Given the description of an element on the screen output the (x, y) to click on. 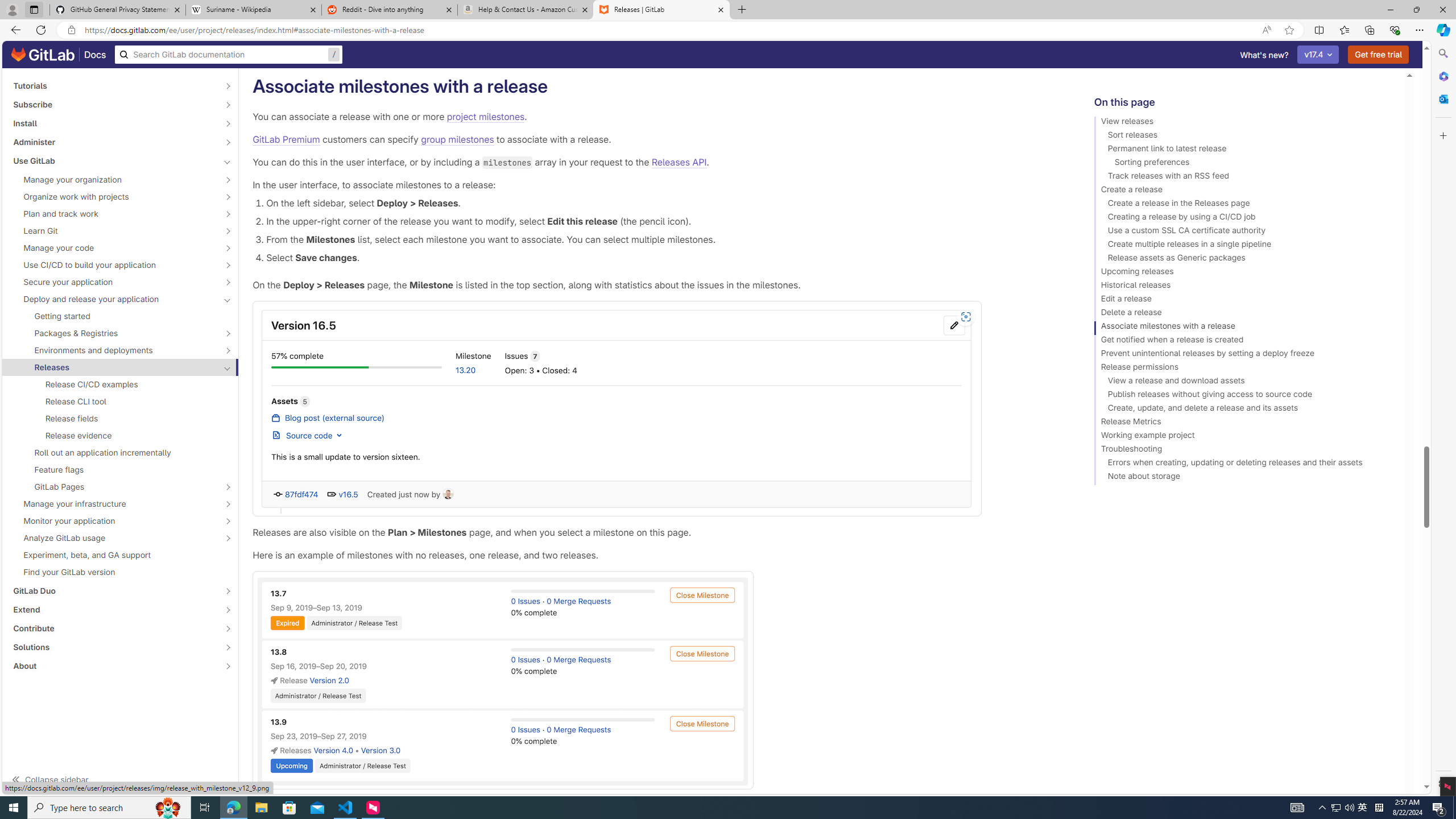
Tutorials (113, 85)
Associate milestones with a release (1244, 327)
Release assets as Generic packages (1244, 259)
Track releases with an RSS feed (1244, 177)
Historical releases (1244, 287)
Find your GitLab version (120, 571)
Historical releases (1244, 287)
Associate milestones with a release (1244, 327)
Help & Contact Us - Amazon Customer Service - Sleeping (525, 9)
Sorting preferences (1244, 164)
Select Delete release. (662, 47)
v17.4 (1318, 54)
